Given the description of an element on the screen output the (x, y) to click on. 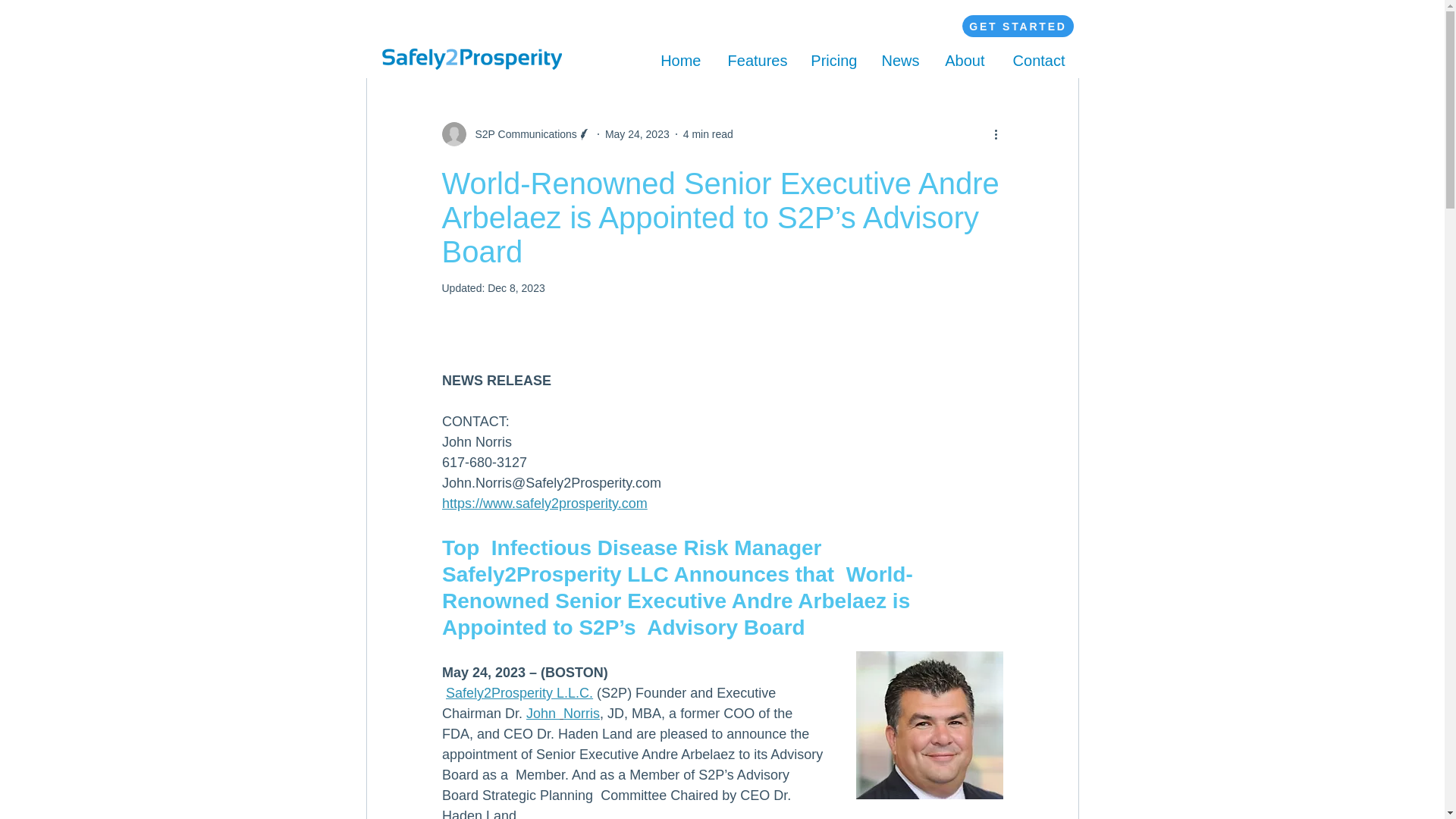
Home (679, 58)
Features (756, 58)
Norris (581, 713)
Dec 8, 2023 (515, 287)
S2P Communications (520, 133)
May 24, 2023 (637, 133)
4 min read (707, 133)
Pricing (834, 58)
All Posts (374, 29)
John  (542, 713)
